Given the description of an element on the screen output the (x, y) to click on. 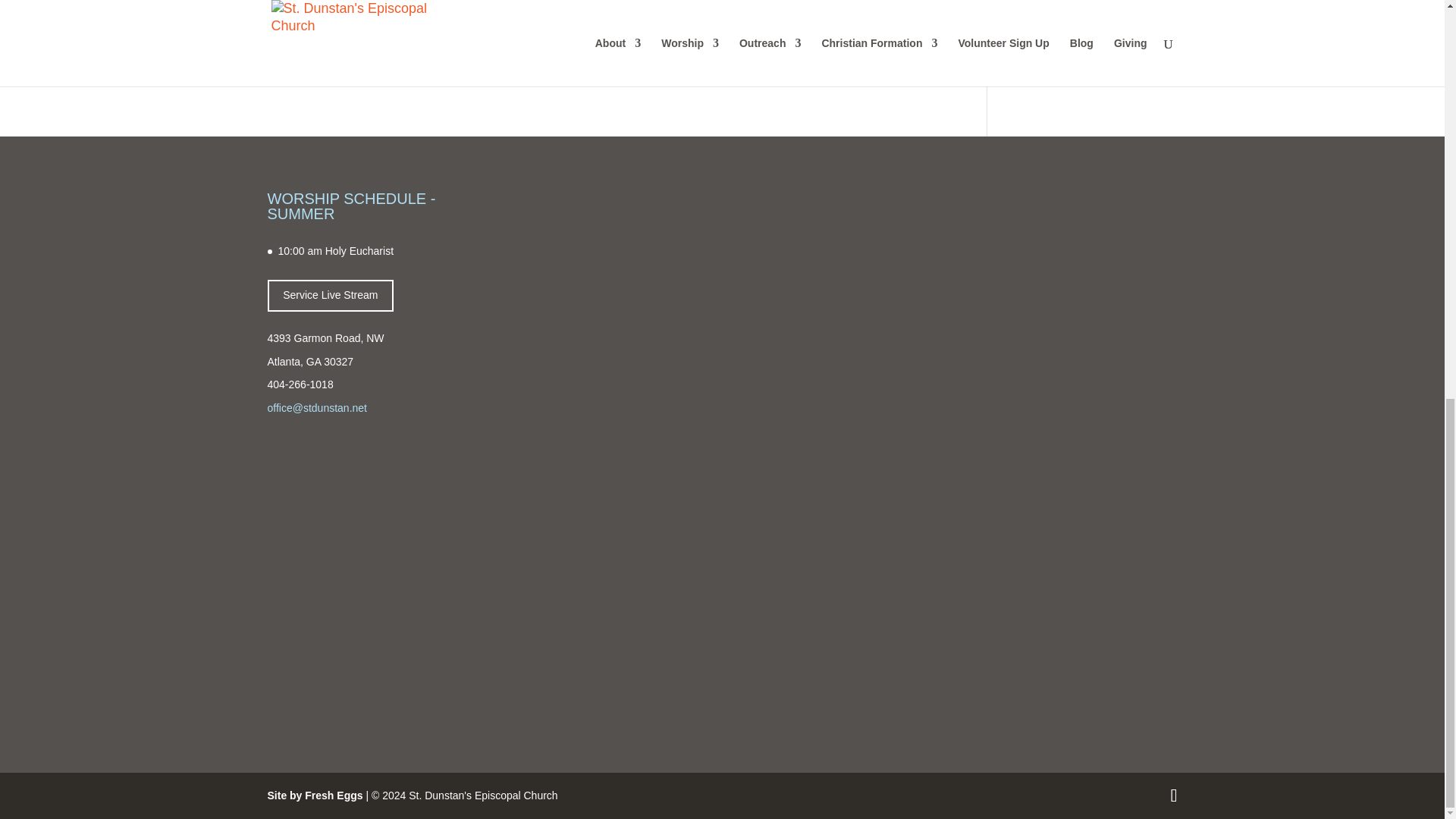
Download (550, 32)
e-ver-Pentecost-16-Proper-21-Sunday-22C-Sept-25 (392, 31)
